Given the description of an element on the screen output the (x, y) to click on. 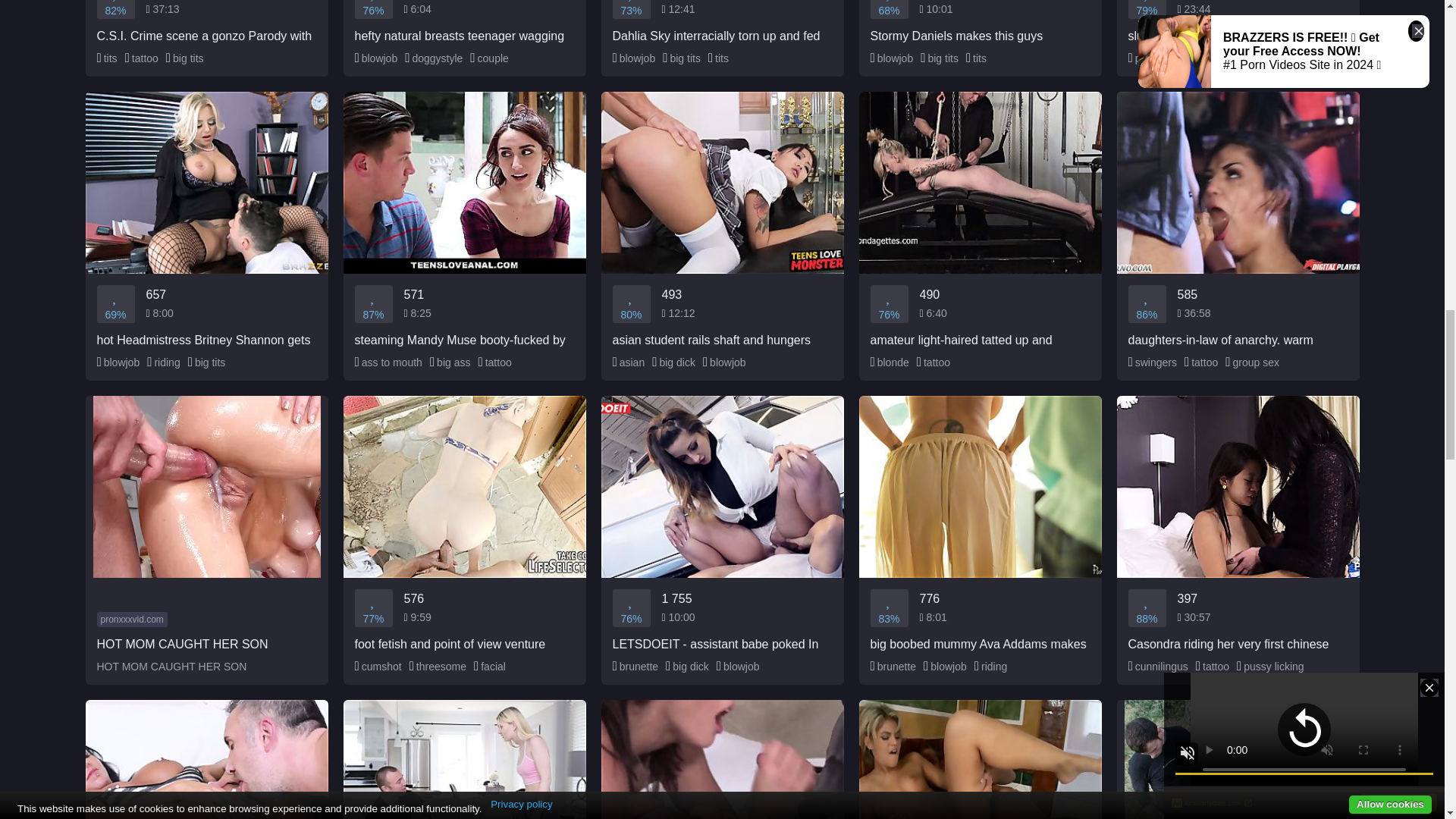
pornstar (1151, 57)
Dahlia Sky interracially torn up and fed (721, 22)
blowjob (376, 57)
tattoo (1197, 57)
big tits (681, 57)
black (1238, 57)
tits (107, 57)
couple (489, 57)
Stormy Daniels makes this guys (979, 22)
tattoo (141, 57)
big tits (939, 57)
tits (976, 57)
tits (718, 57)
big tits (184, 57)
doggystyle (433, 57)
